Given the description of an element on the screen output the (x, y) to click on. 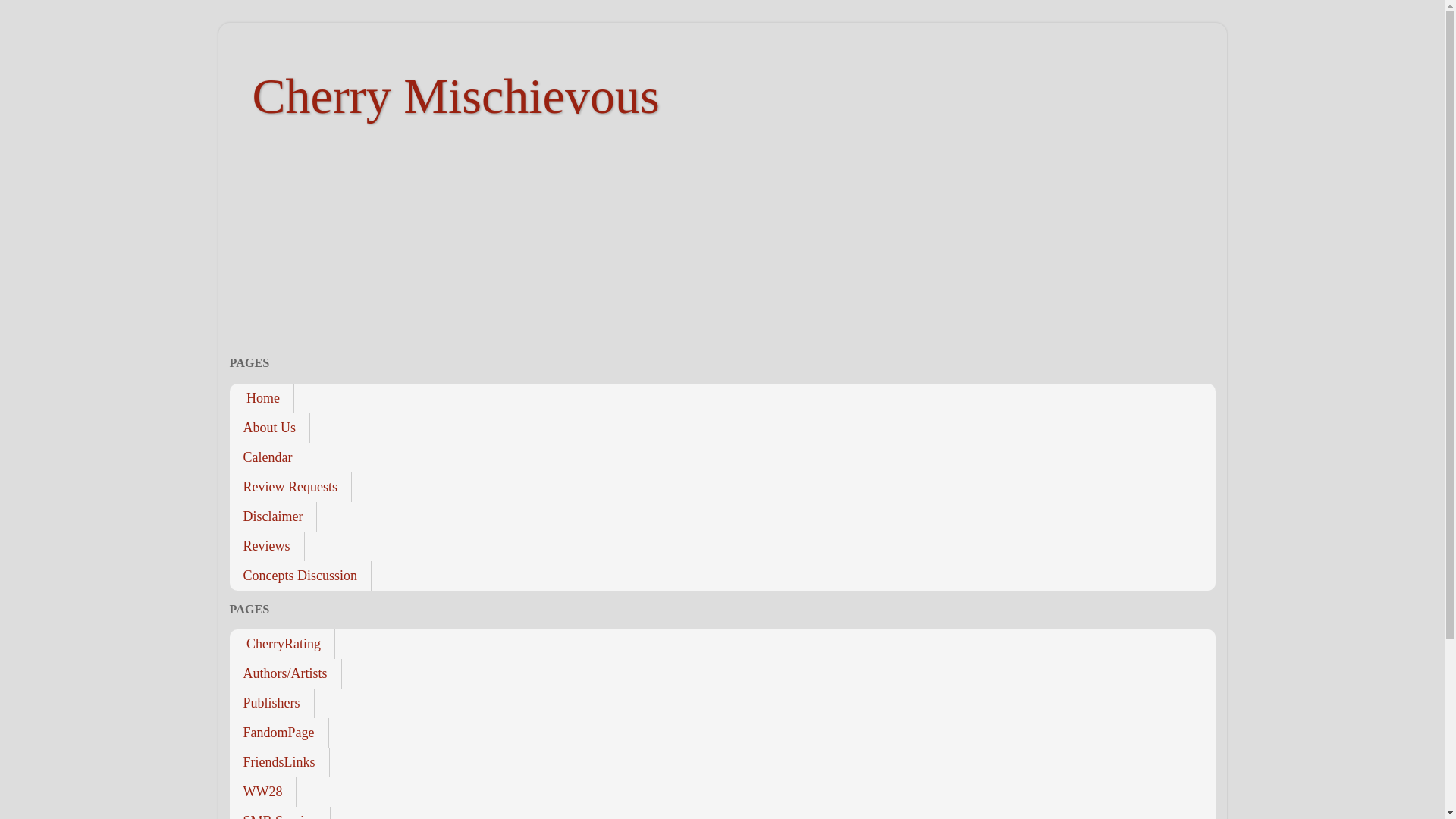
About Us (269, 427)
Review Requests (289, 486)
Disclaimer (272, 516)
FandomPage (278, 732)
Publishers (271, 703)
SMB Service (279, 812)
Home (261, 398)
WW28 (262, 791)
Concepts Discussion (299, 575)
Reviews (266, 545)
